Given the description of an element on the screen output the (x, y) to click on. 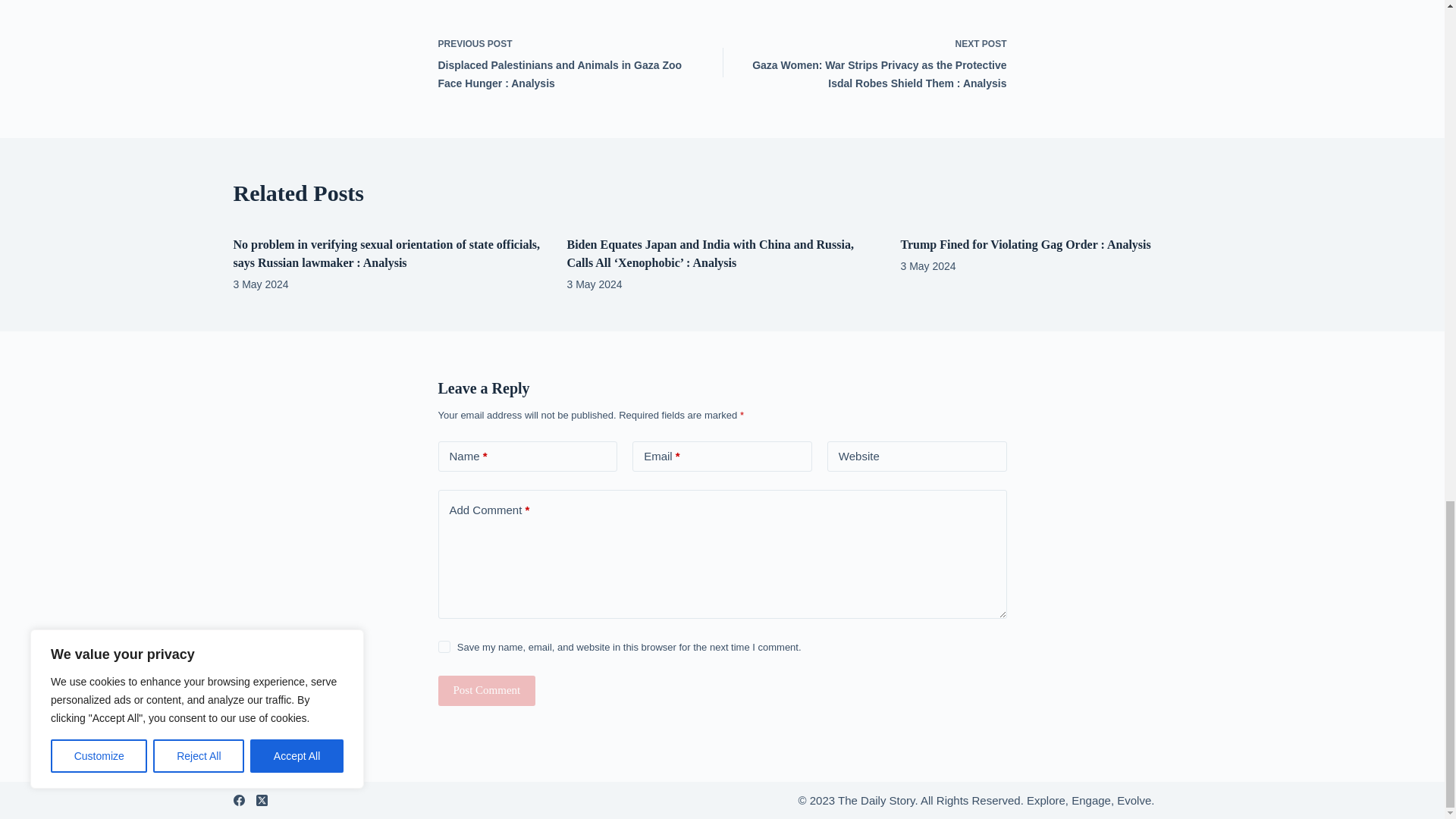
yes (443, 646)
